Given the description of an element on the screen output the (x, y) to click on. 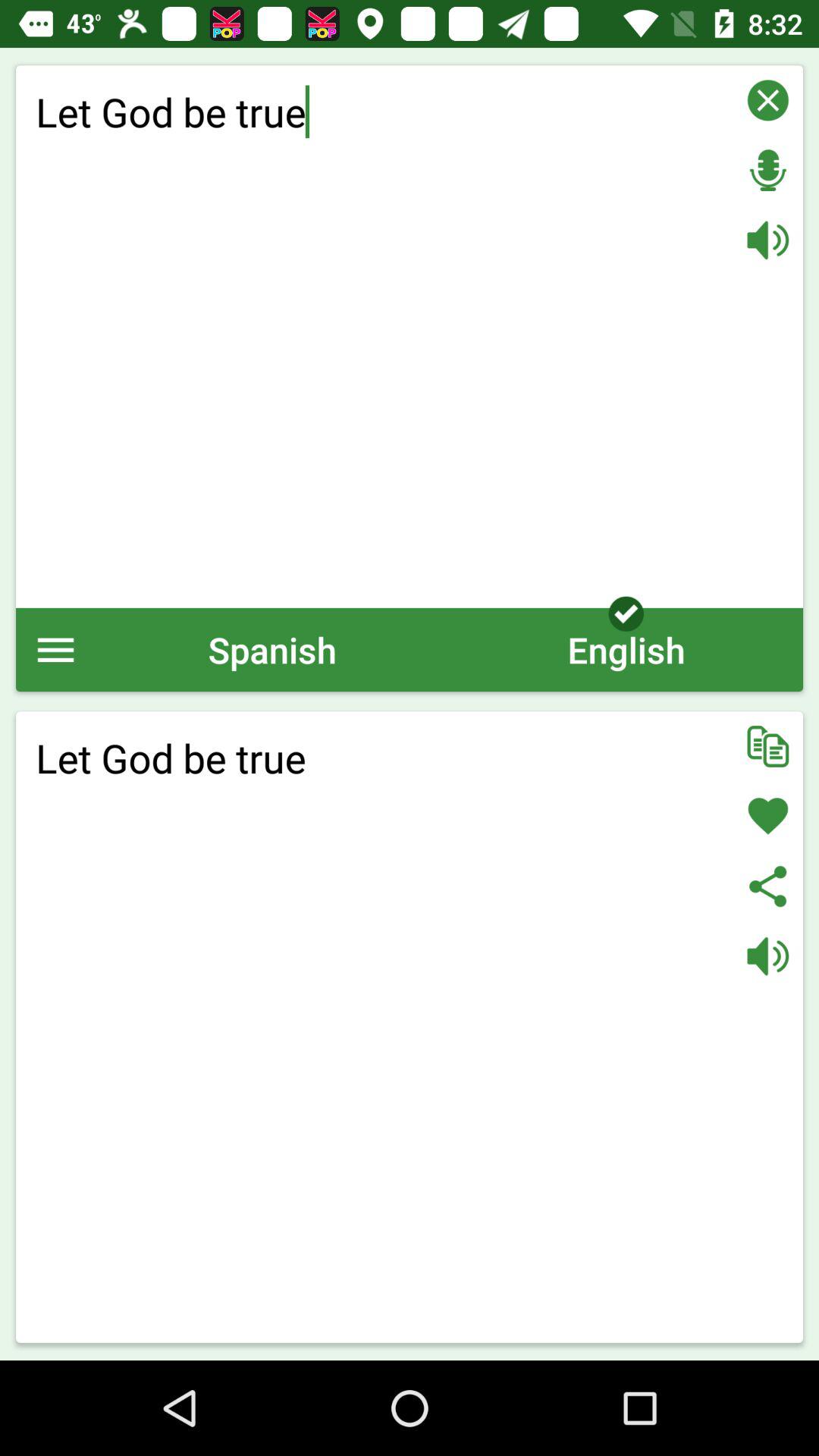
scroll to english item (626, 649)
